Given the description of an element on the screen output the (x, y) to click on. 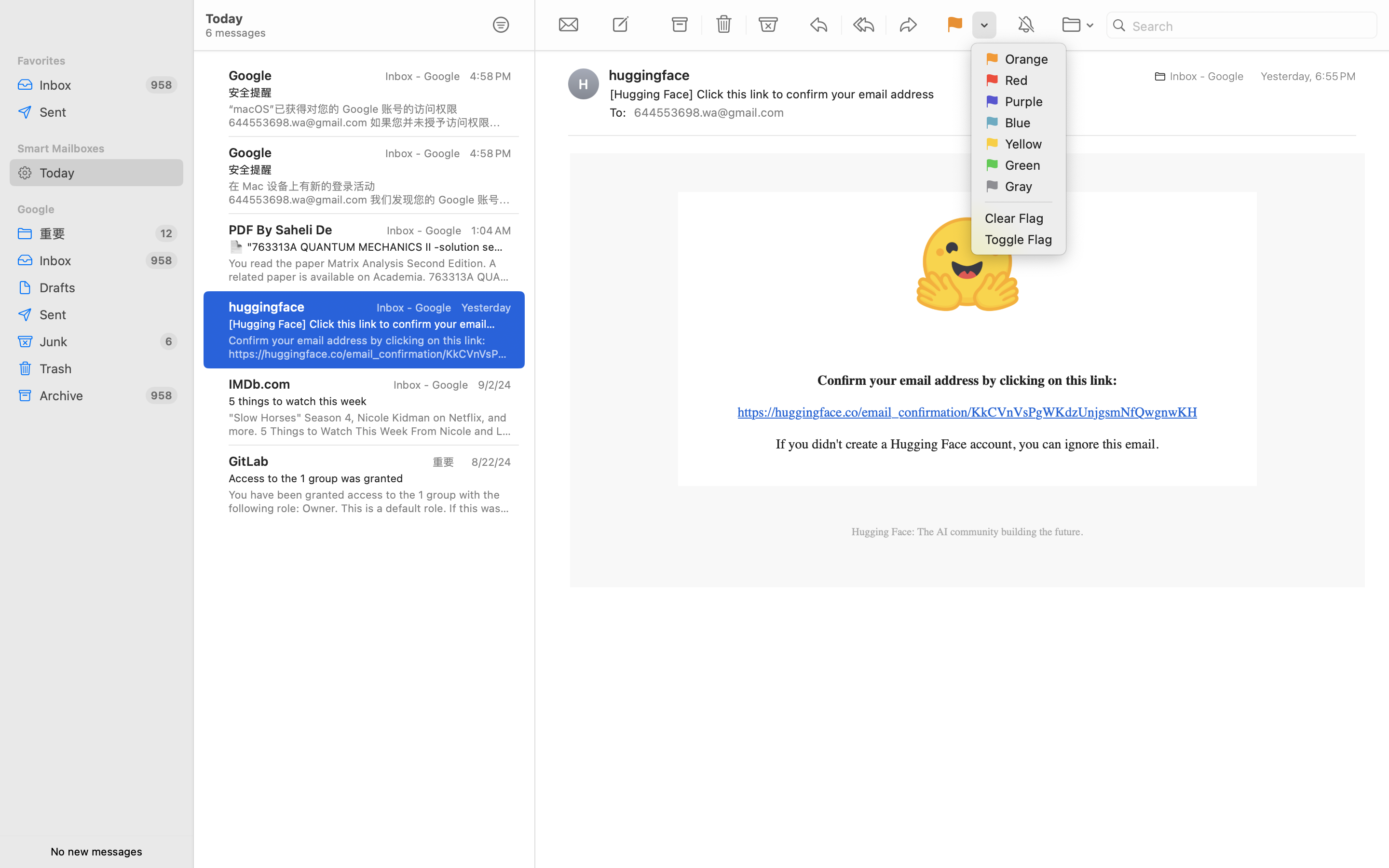
644553698.wa@gmail.com Element type: AXStaticText (712, 112)
Google Element type: AXStaticText (96, 209)
5 things to watch this week Element type: AXStaticText (365, 400)
在 Mac 设备上有新的登录活动 644553698.wa@gmail.com 我们发现您的 Google 账号在一部 Mac 设备上有新的登录活动。如果这是您本人的操作，那么您无需采取任何行动。如果这不是您本人的操作，我们会帮助您保护您的账号。 查看活动 您也可以访问以下网址查看安全性活动： https://myaccount.google.com/notifications 我们向您发送这封电子邮件，目的是让您了解关于您的 Google 账号和服务的重大变化。 © 2024 Google LLC, 1600 Amphitheatre Parkway, Mountain View, CA 94043, USA Element type: AXStaticText (369, 192)
￼Inbox - Google Element type: AXStaticText (1195, 75)
